Given the description of an element on the screen output the (x, y) to click on. 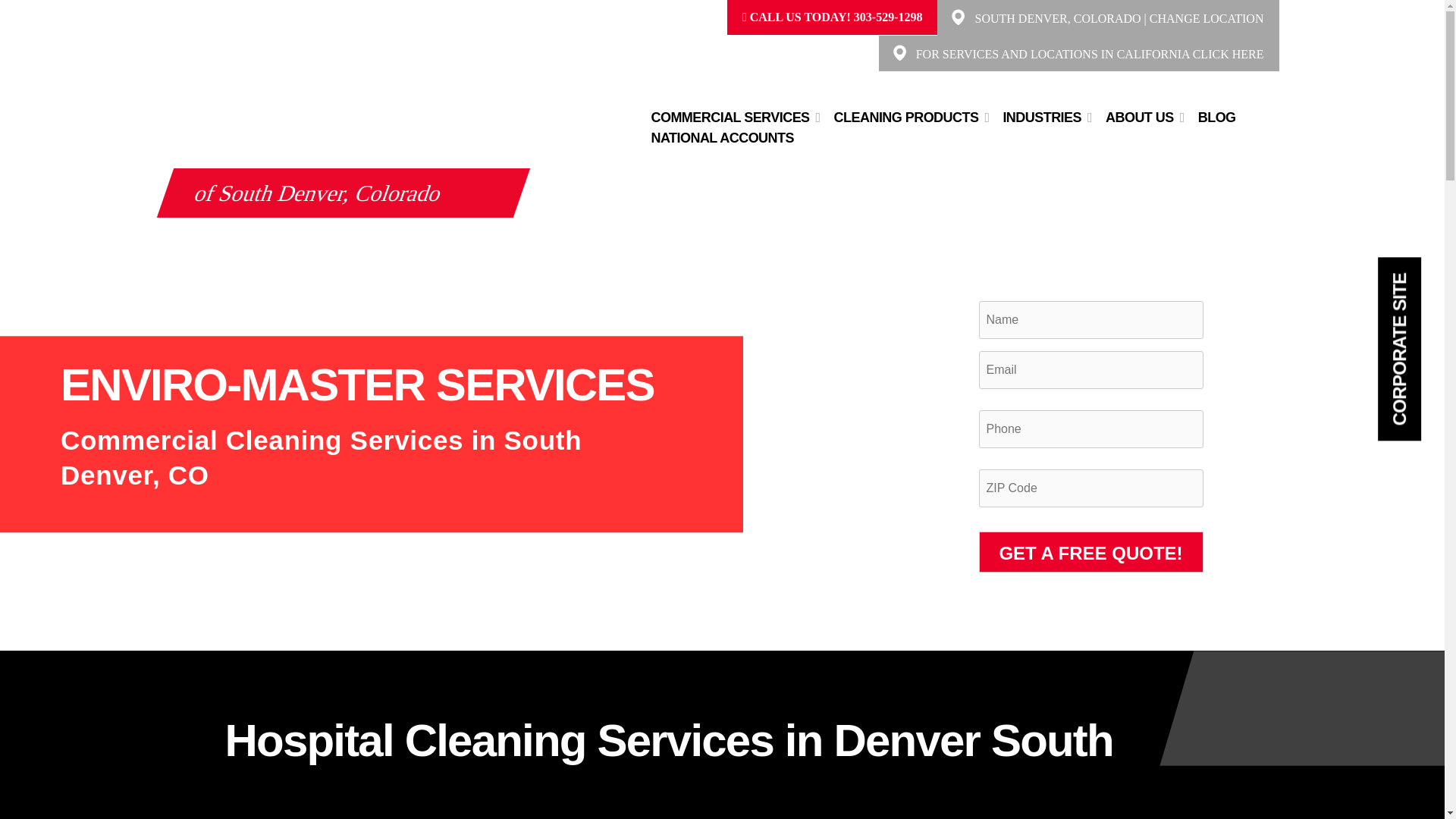
CLEANING PRODUCTS (906, 117)
INDUSTRIES (1041, 117)
Commercial Services (730, 117)
BLOG (1216, 117)
Get a Free Quote! (1090, 551)
 CALL US TODAY! 303-529-1298 (832, 16)
FOR SERVICES AND LOCATIONS IN CALIFORNIA CLICK HERE (1089, 53)
COMMERCIAL SERVICES (730, 117)
Cleaning Products (906, 117)
ABOUT US (1139, 117)
